Given the description of an element on the screen output the (x, y) to click on. 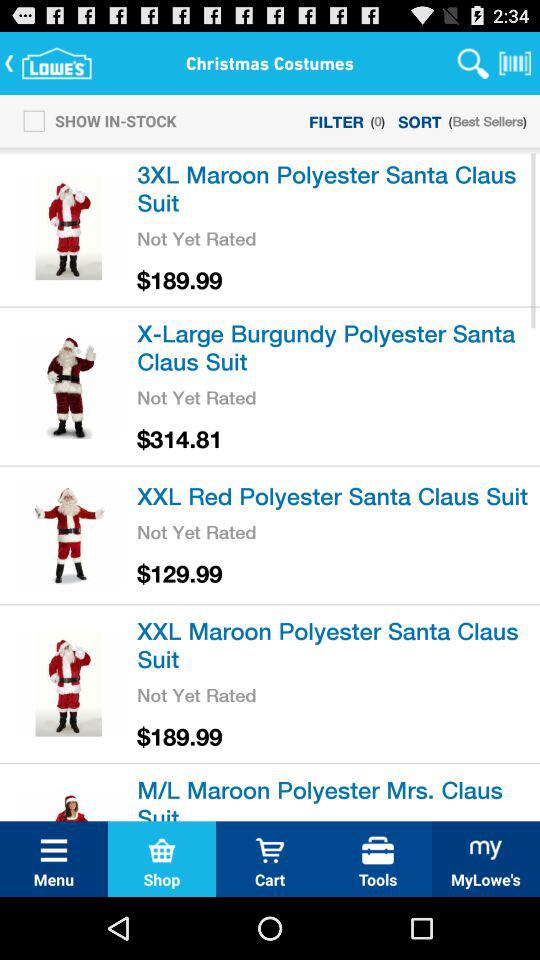
jump to sort icon (419, 120)
